Given the description of an element on the screen output the (x, y) to click on. 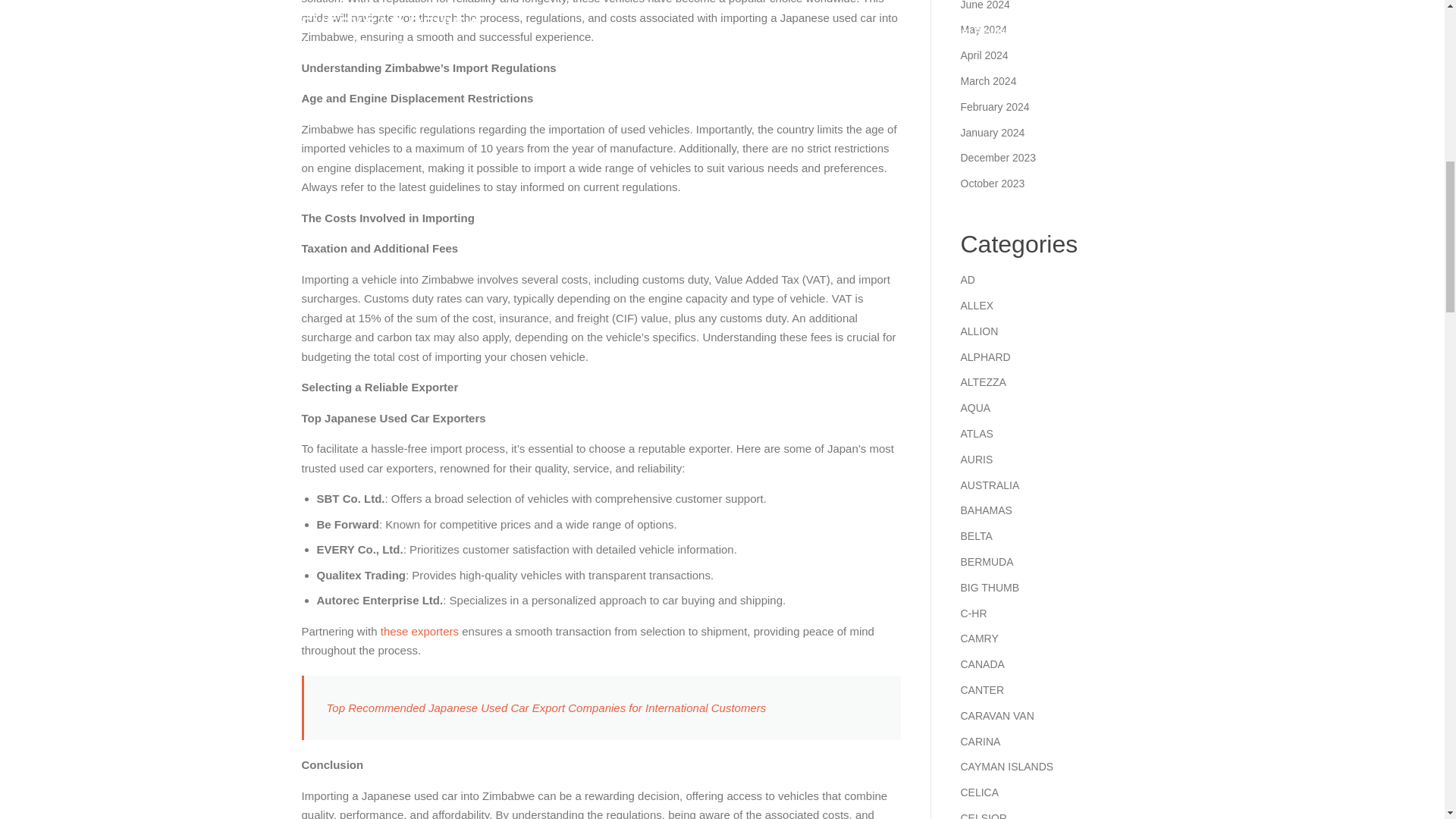
April 2024 (983, 55)
these exporters (419, 631)
May 2024 (982, 29)
February 2024 (994, 106)
June 2024 (984, 5)
March 2024 (987, 80)
